Given the description of an element on the screen output the (x, y) to click on. 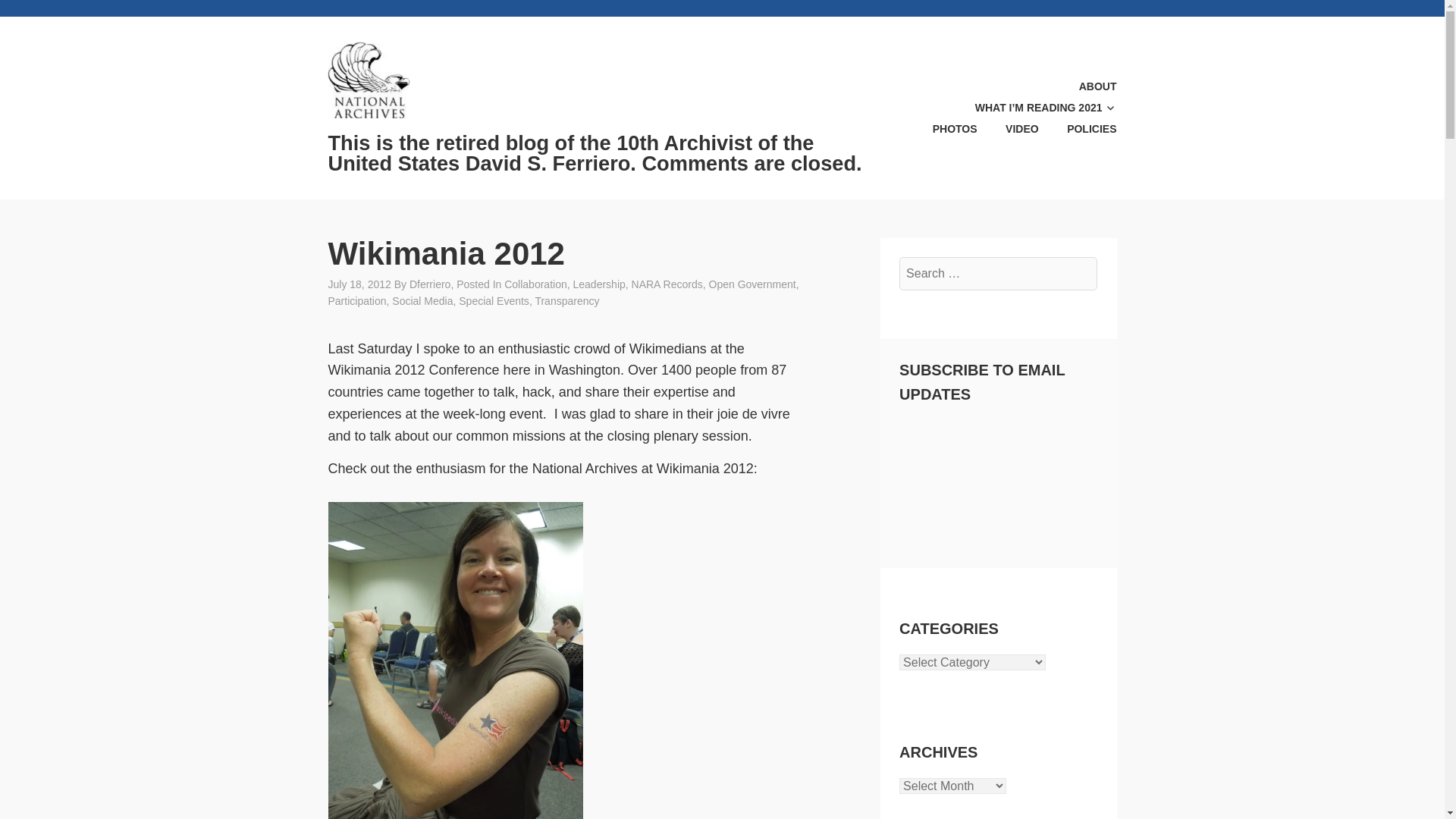
Transparency (566, 300)
NARA Records (667, 284)
Participation (356, 300)
Social Media (421, 300)
July 18, 2012 (358, 284)
Form 0 (998, 478)
Merrilee Tattoo (454, 660)
VIDEO (1008, 128)
Open Government (750, 284)
Collaboration (535, 284)
Dferriero (429, 284)
Special Events (493, 300)
POLICIES (1079, 128)
ABOUT (1084, 86)
